Given the description of an element on the screen output the (x, y) to click on. 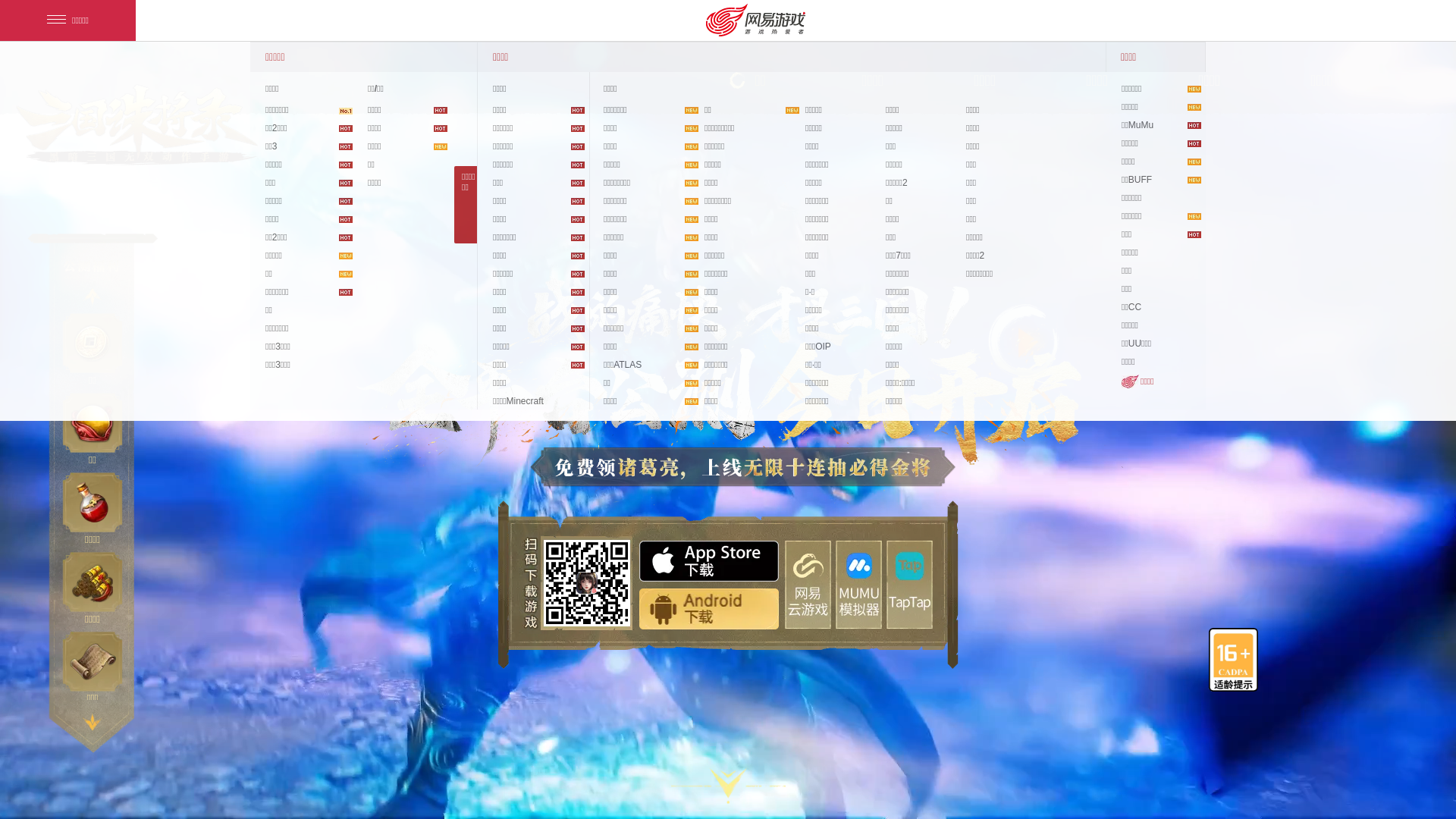
tap tap Element type: hover (909, 583)
video Element type: hover (1044, 358)
